Given the description of an element on the screen output the (x, y) to click on. 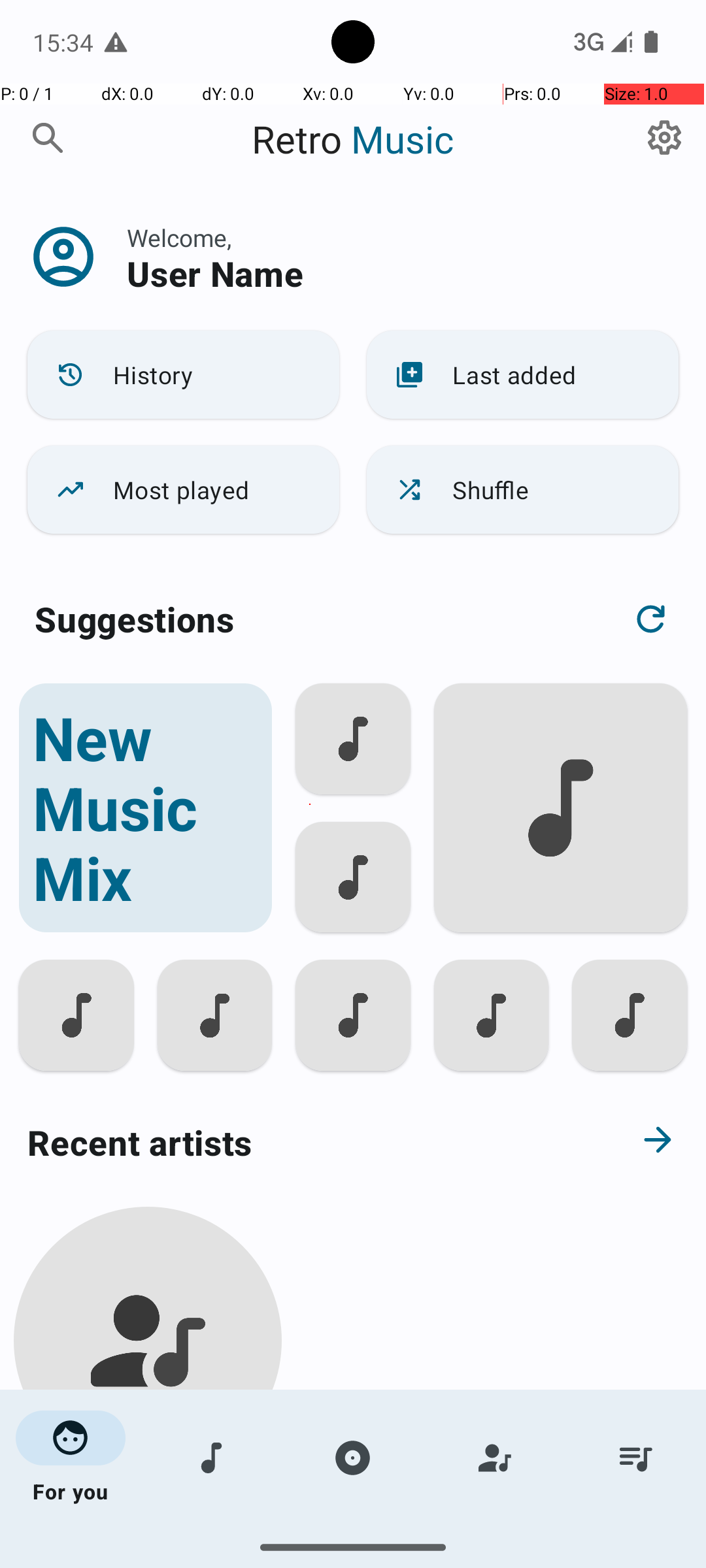
Gabriel Element type: android.widget.TextView (147, 1503)
